Given the description of an element on the screen output the (x, y) to click on. 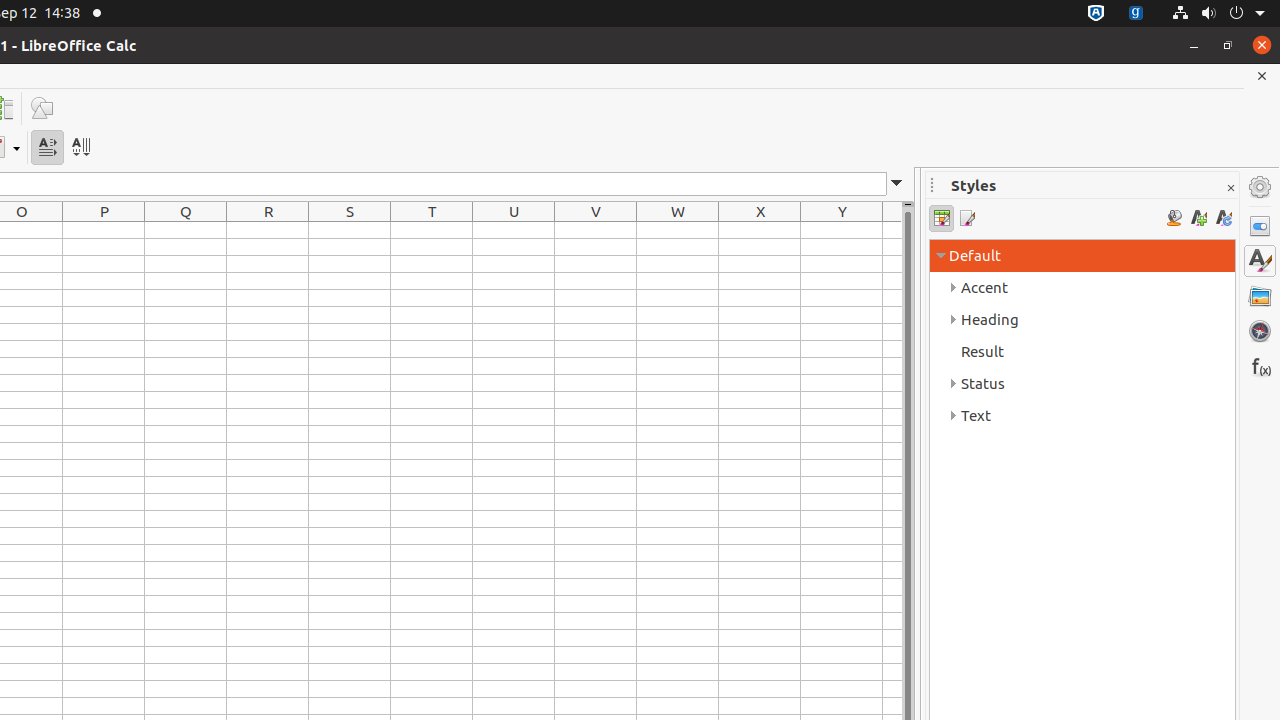
X1 Element type: table-cell (760, 230)
Expand Formula Bar Element type: push-button (897, 183)
Draw Functions Element type: toggle-button (41, 108)
Text direction from top to bottom Element type: toggle-button (80, 147)
Fill Format Mode Element type: push-button (1173, 218)
